Given the description of an element on the screen output the (x, y) to click on. 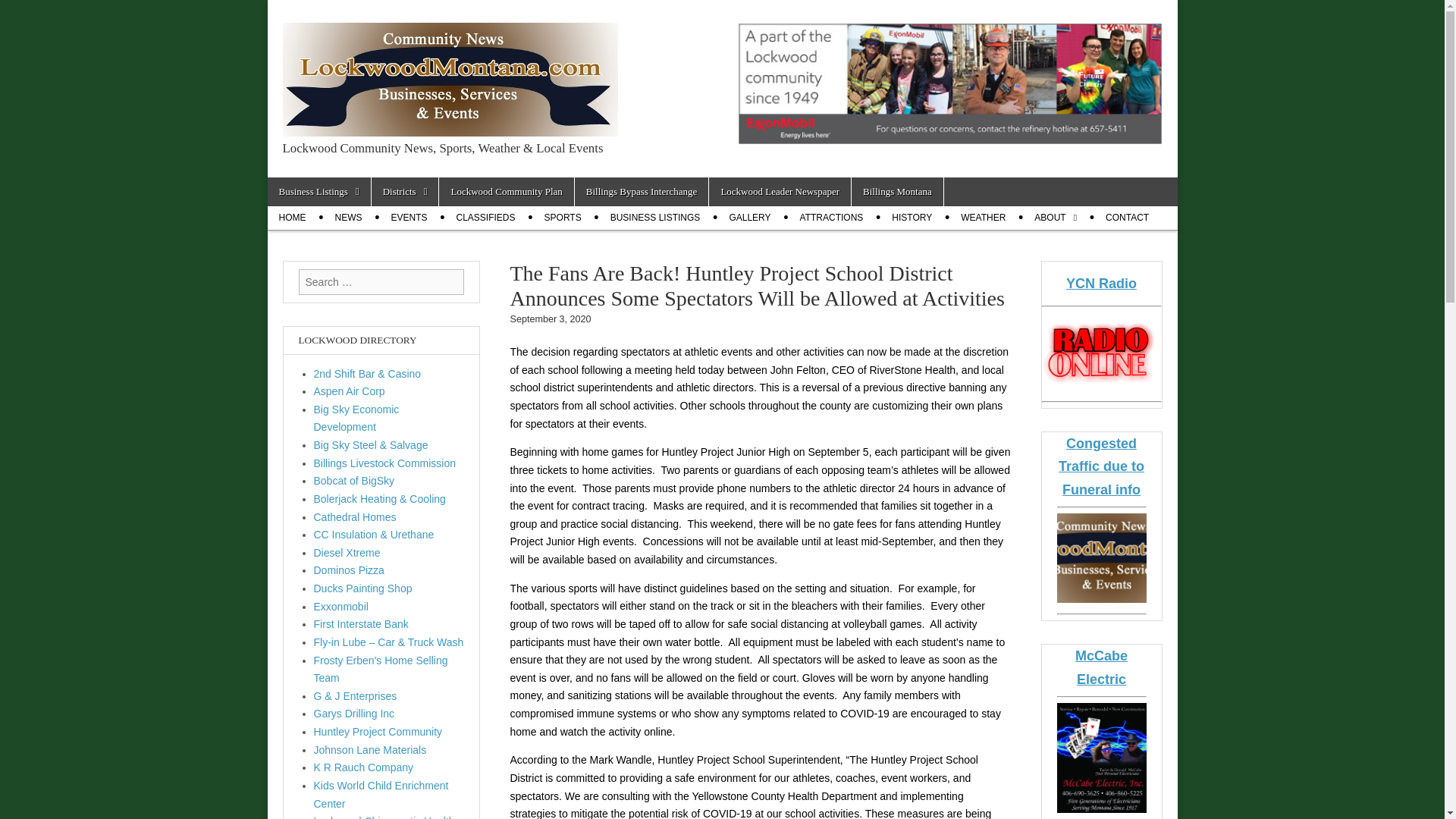
Pizza, Food, Bread Sticks, drinks, Lockwood Square,  (349, 570)
Homes for Sale, Lots for sale, Lockwood, Montana (355, 517)
Diesel Truck Repair, Automotive, Mechanic, Lockwood,  (347, 552)
Business Listings (317, 191)
Bar, Casino, Lockwood, food, dinner, lunch,  Hwy 87 E, (368, 373)
